Given the description of an element on the screen output the (x, y) to click on. 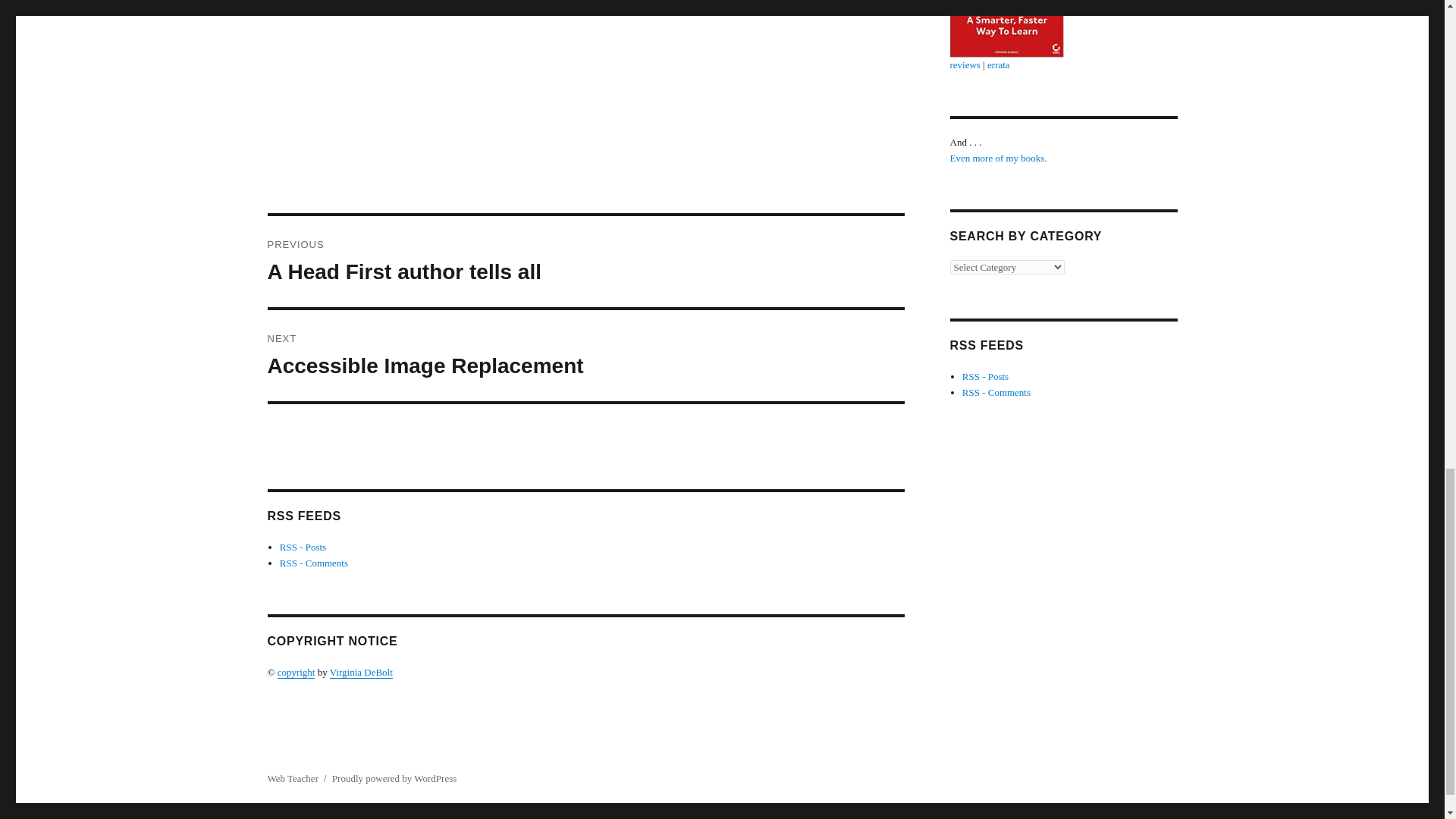
Even more of my books. (997, 157)
reviews (964, 64)
Virginia DeBolt (361, 672)
Web Teacher (291, 778)
Subscribe to posts (302, 546)
Subscribe to posts (985, 376)
copyright (296, 672)
Subscribe to comments (996, 392)
errata (998, 64)
